Given the description of an element on the screen output the (x, y) to click on. 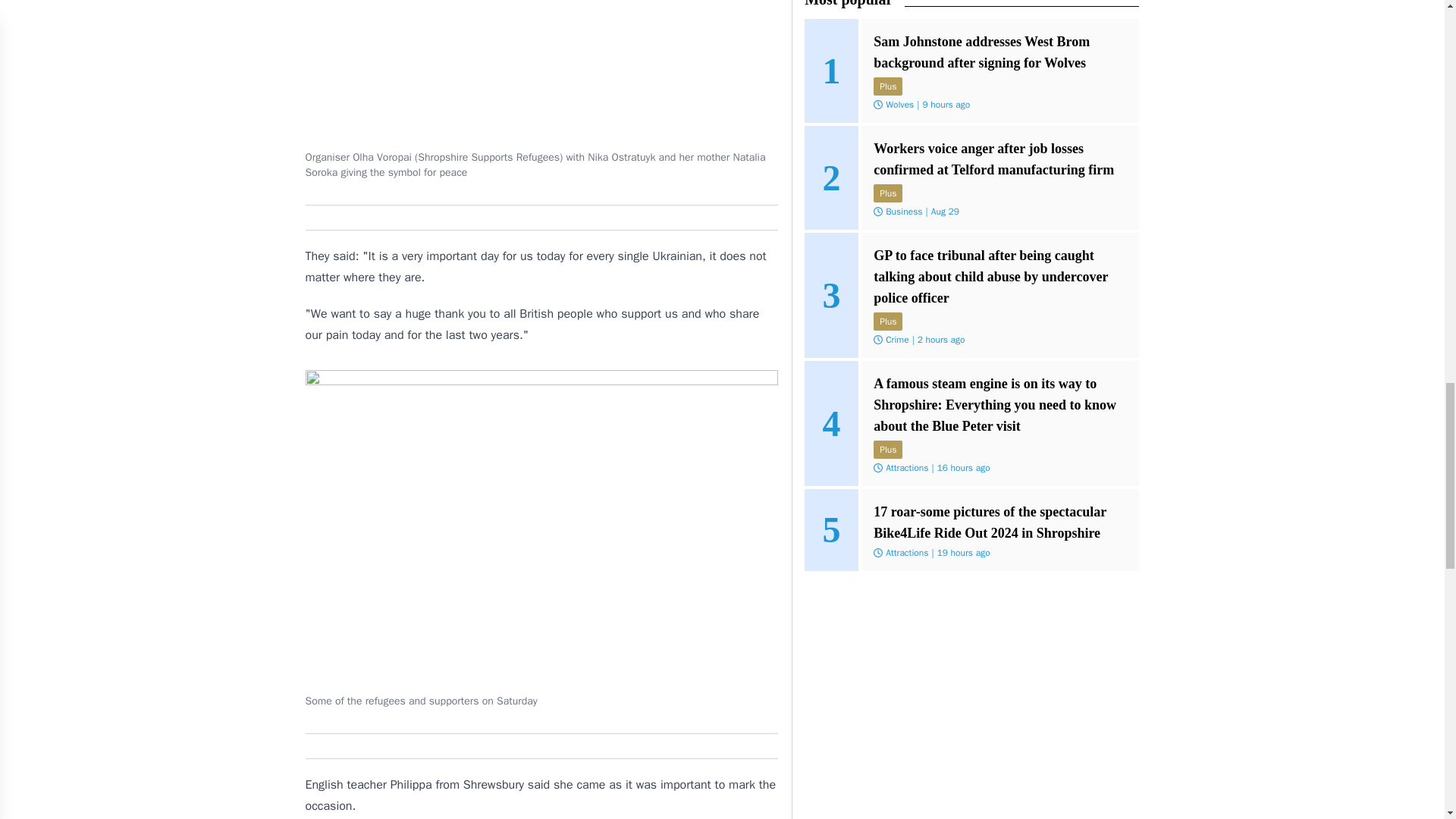
Business (903, 211)
Attractions (906, 467)
Wolves (899, 104)
Attractions (906, 552)
Crime (896, 339)
